Given the description of an element on the screen output the (x, y) to click on. 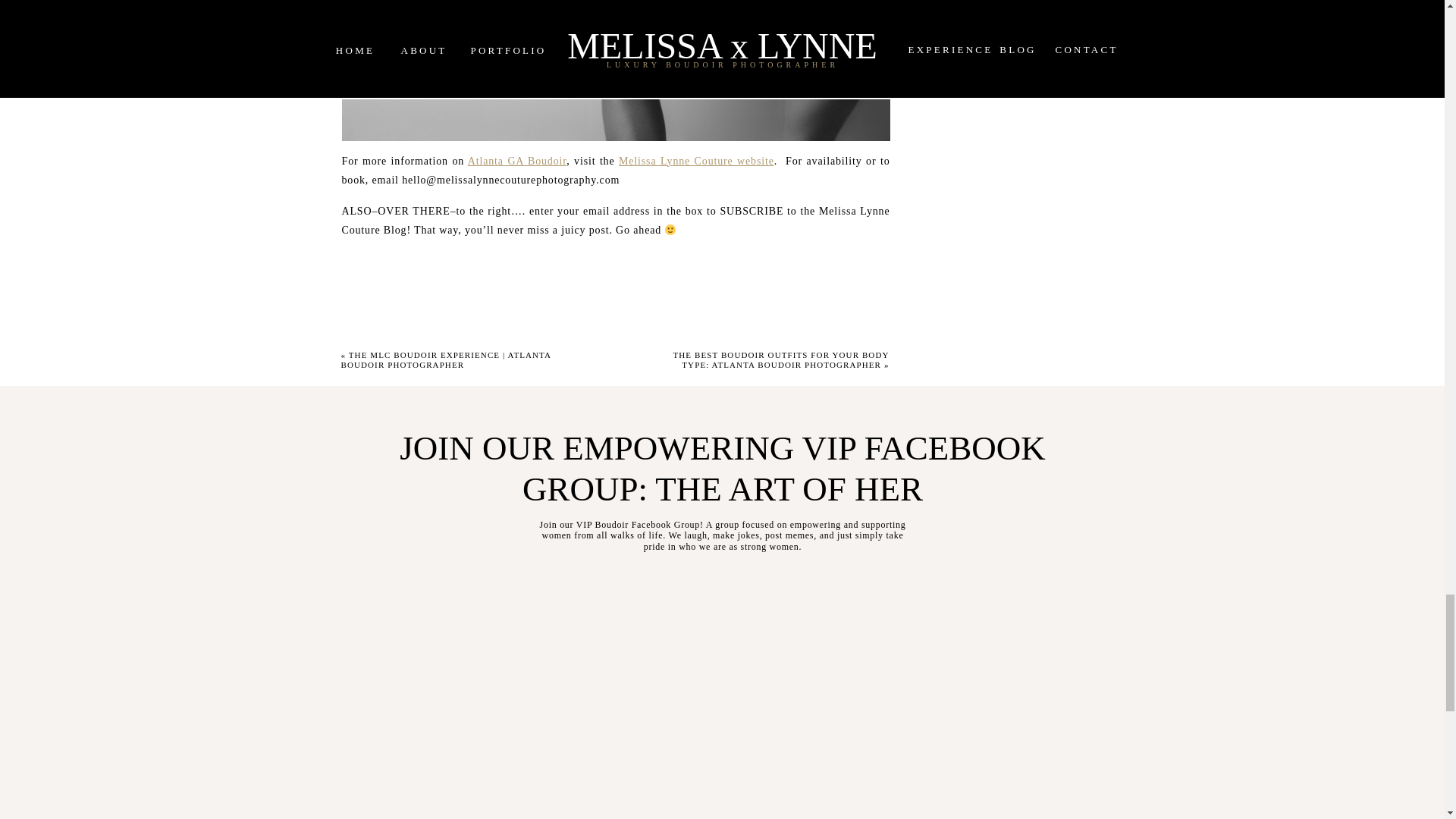
Atlanta GA Boudoir (516, 161)
Melissa Lynne Couture website (696, 161)
